Given the description of an element on the screen output the (x, y) to click on. 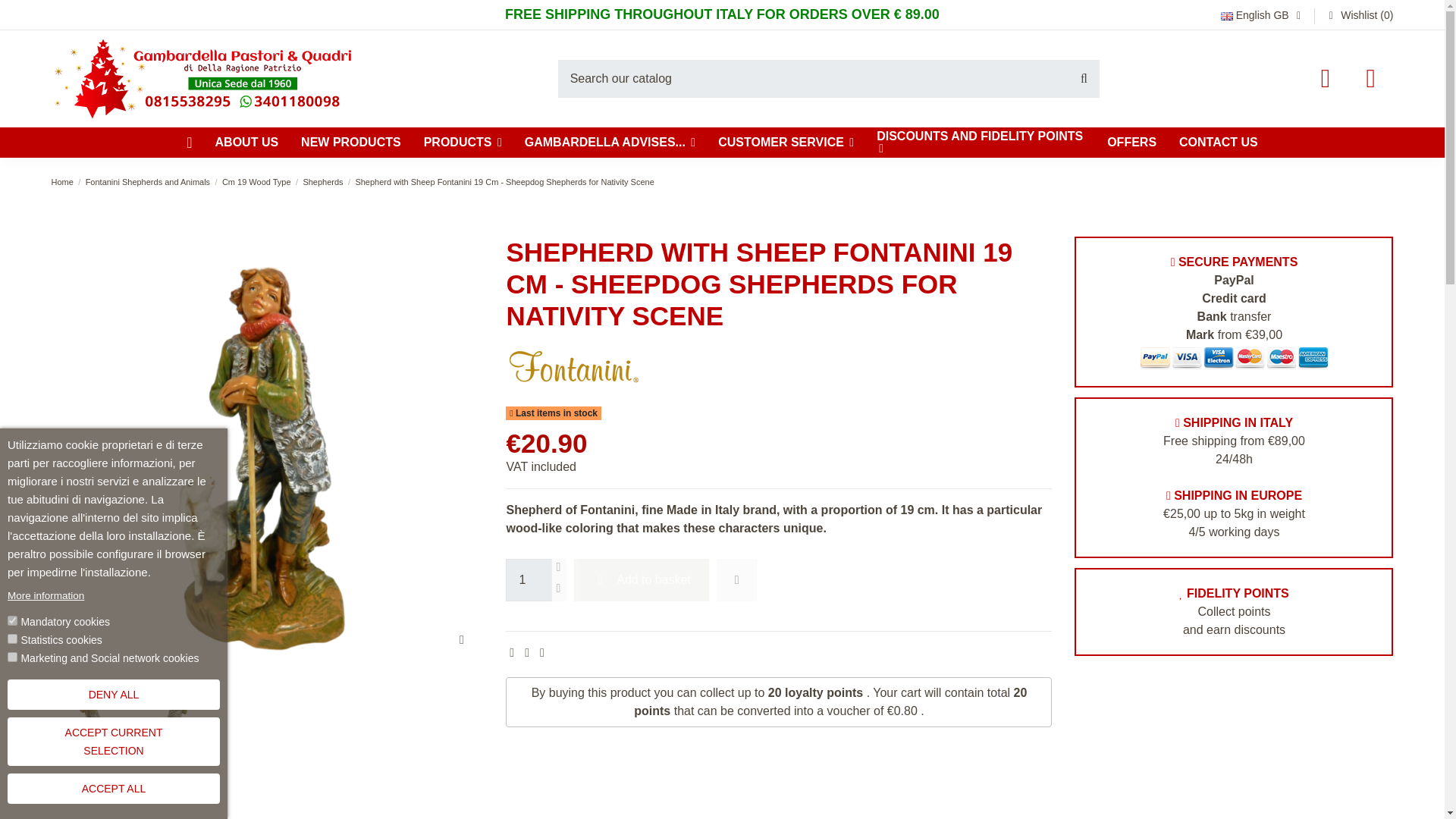
Log in to your customer account (1325, 78)
English GB (1263, 15)
1 (528, 579)
on (12, 620)
on (12, 638)
ABOUT US (246, 142)
on (12, 656)
PRODUCTS (462, 142)
NEW PRODUCTS (350, 142)
